Given the description of an element on the screen output the (x, y) to click on. 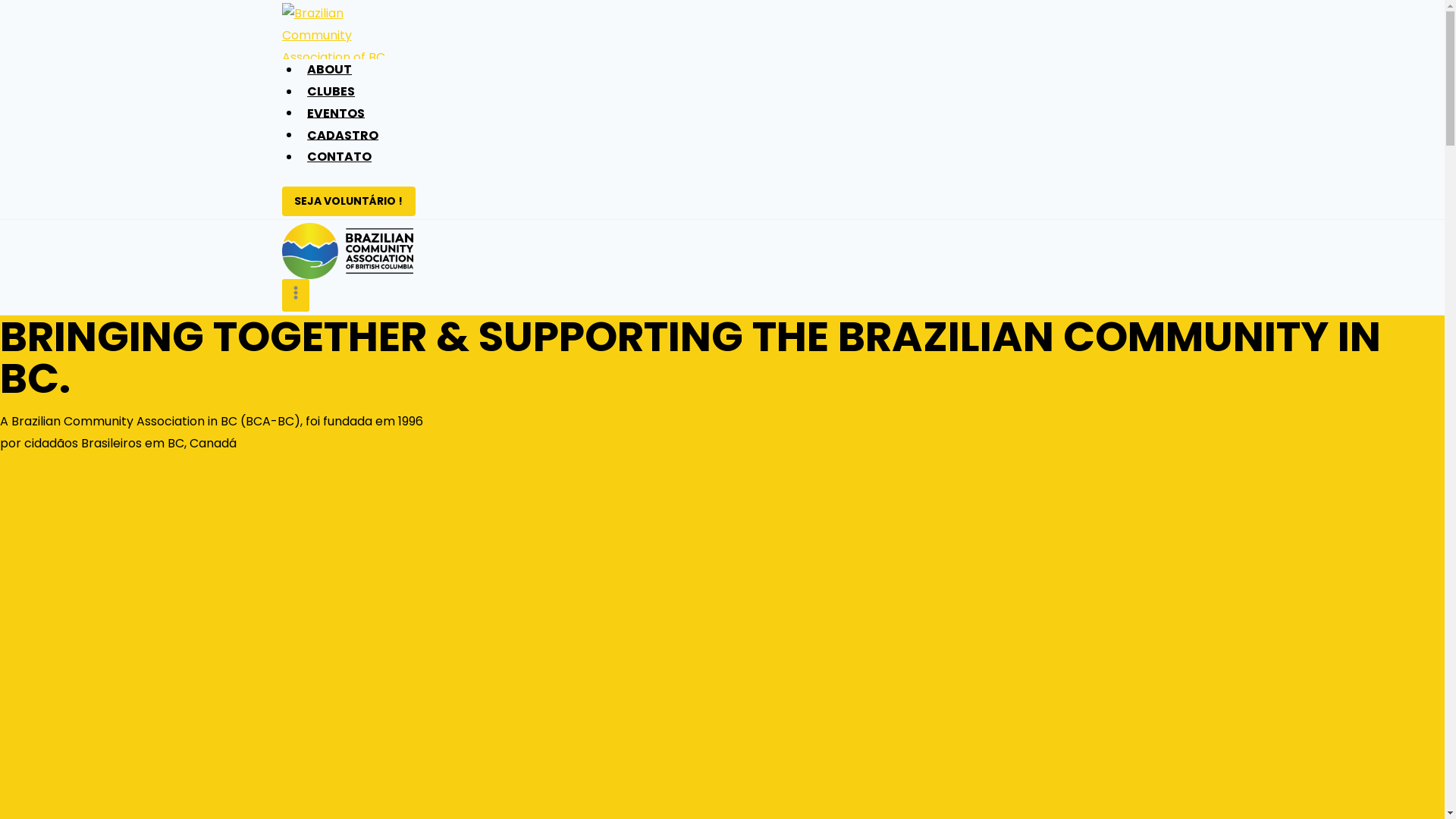
CONTATO Element type: text (339, 156)
ABOUT Element type: text (329, 68)
CADASTRO Element type: text (342, 134)
EVENTOS Element type: text (336, 112)
CLUBES Element type: text (331, 90)
